Given the description of an element on the screen output the (x, y) to click on. 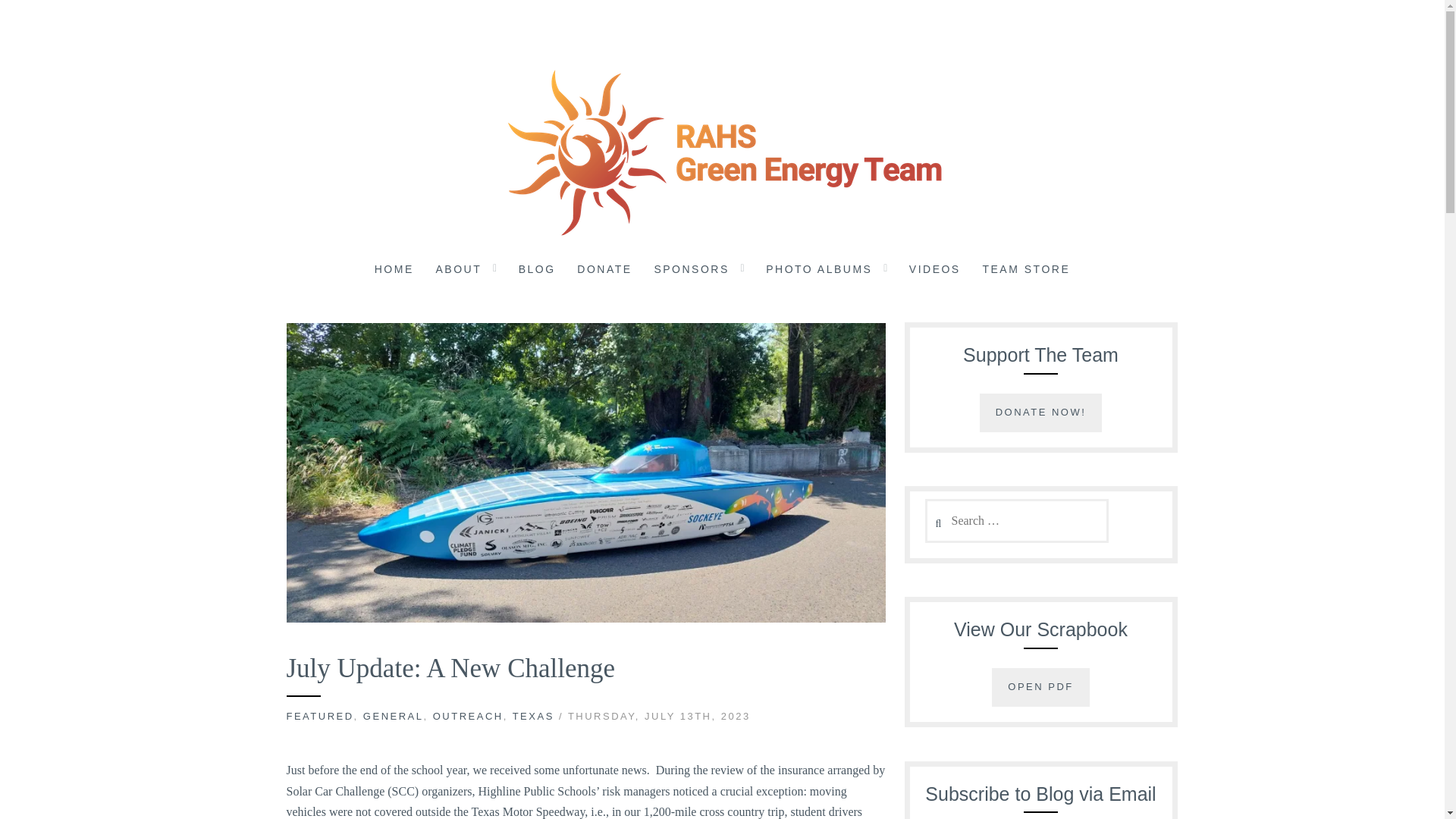
GENERAL (392, 715)
PHOTO ALBUMS (818, 270)
TEAM STORE (1025, 270)
FEATURED (319, 715)
SPONSORS (691, 270)
BLOG (537, 270)
DONATE (603, 270)
HOME (393, 270)
ABOUT (458, 270)
OUTREACH (467, 715)
OPEN PDF (1040, 687)
Donate Now! (1040, 412)
RAHS Green Energy Team (226, 261)
TEXAS (533, 715)
VIDEOS (934, 270)
